Given the description of an element on the screen output the (x, y) to click on. 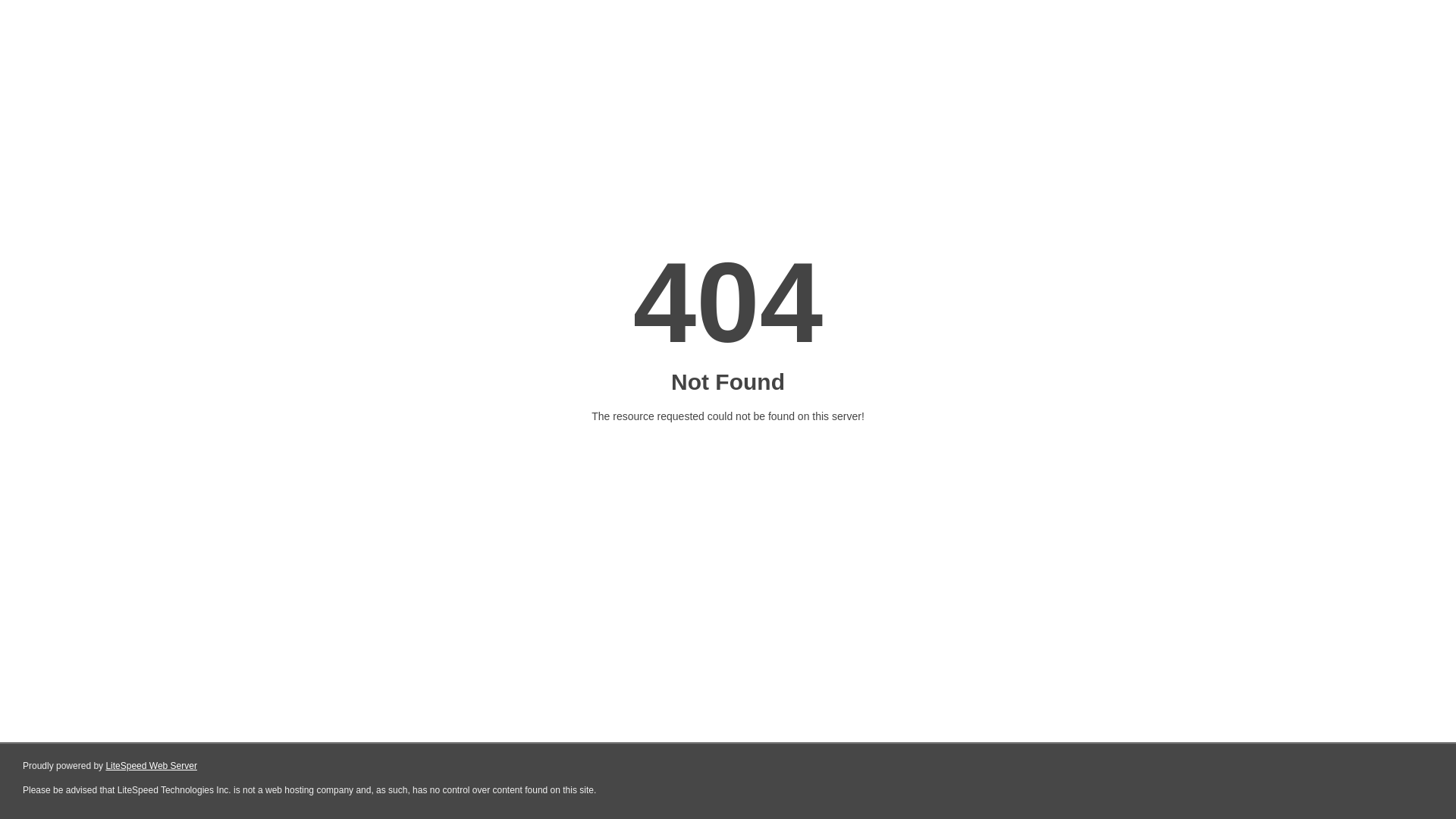
LiteSpeed Web Server Element type: text (151, 765)
